Given the description of an element on the screen output the (x, y) to click on. 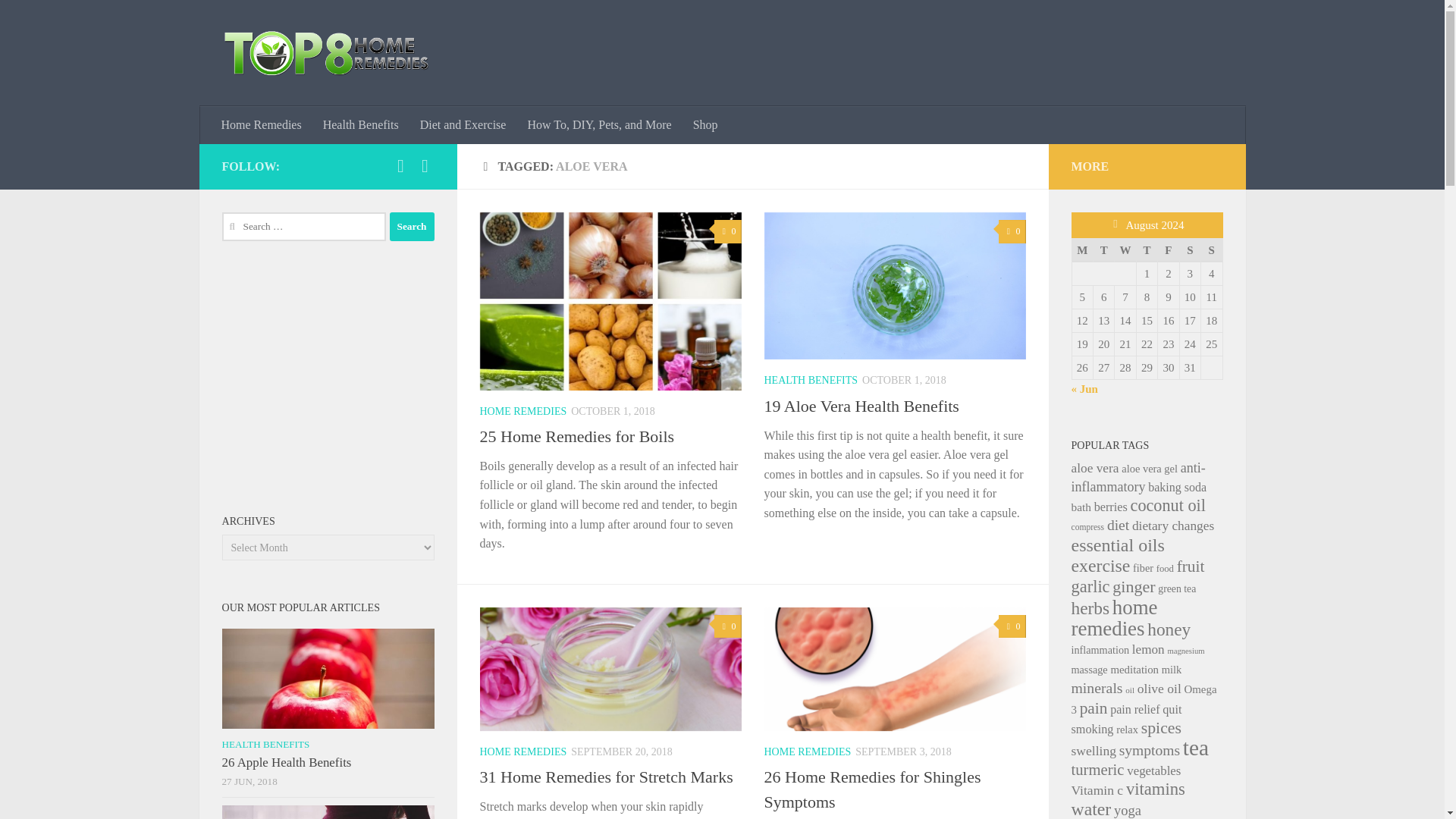
31 Home Remedies for Stretch Marks (605, 776)
26 Home Remedies for Shingles Symptoms (872, 789)
0 (1011, 626)
Shop (705, 125)
Follow us on Twitter (423, 166)
Health Benefits (361, 125)
Search (411, 226)
Diet and Exercise (462, 125)
HEALTH BENEFITS (811, 379)
0 (1011, 231)
